Given the description of an element on the screen output the (x, y) to click on. 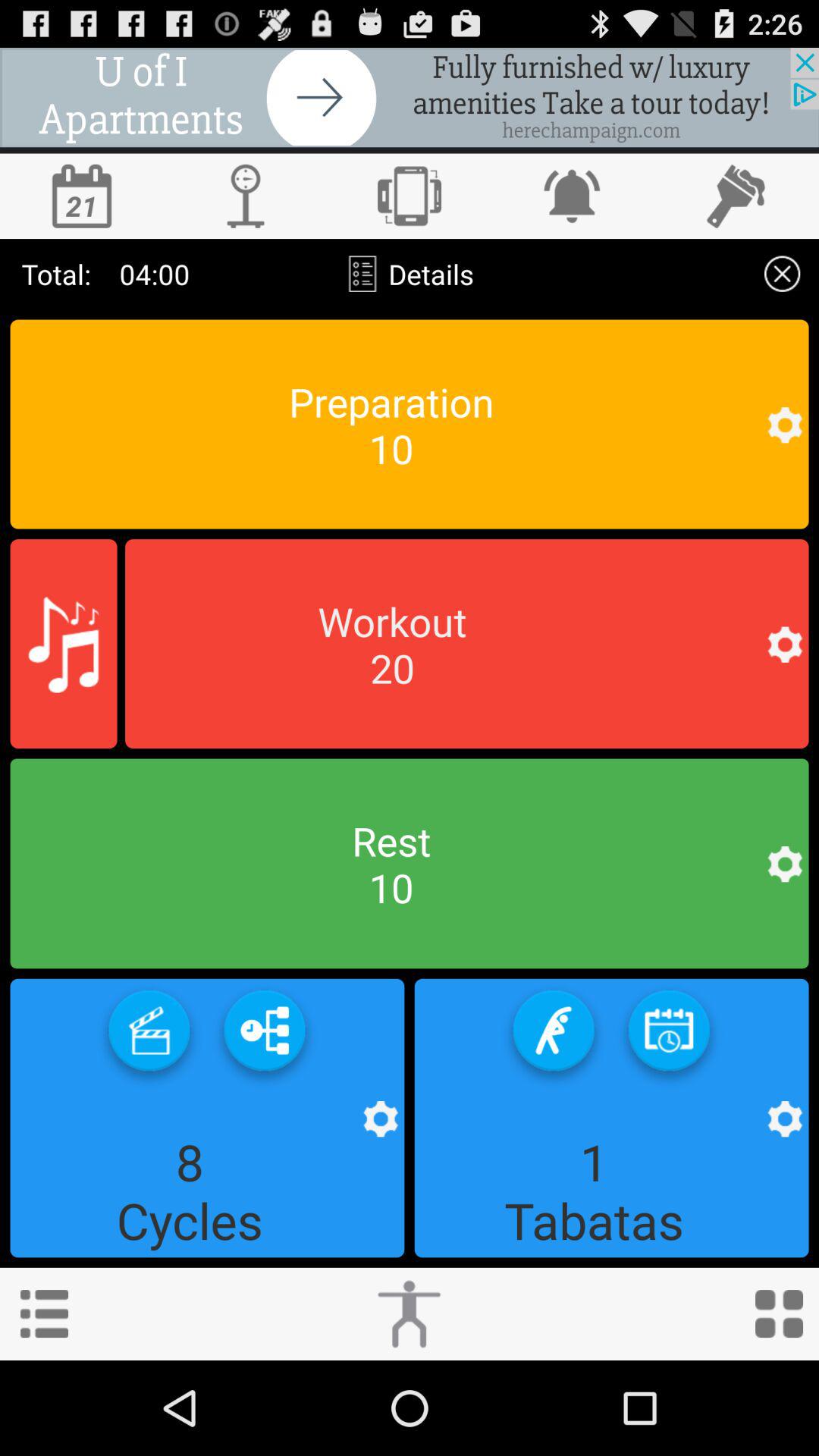
shows workout option (466, 643)
